Given the description of an element on the screen output the (x, y) to click on. 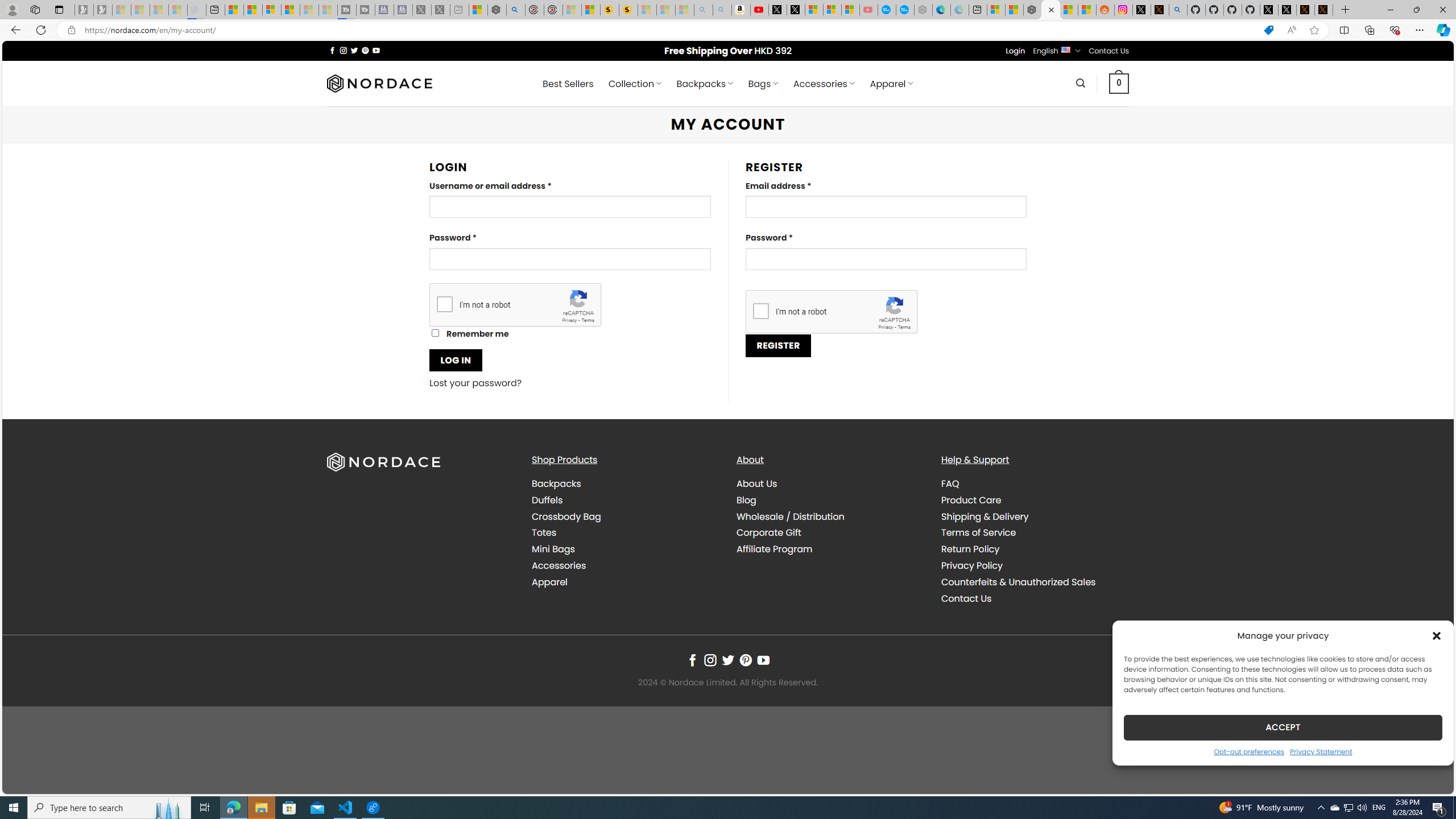
Login (1015, 50)
About Us (756, 483)
Totes (625, 532)
Product Care (970, 499)
Shipping & Delivery (984, 516)
Affiliate Program (830, 549)
Contact Us (965, 598)
This site has coupons! Shopping in Microsoft Edge (1268, 29)
